Given the description of an element on the screen output the (x, y) to click on. 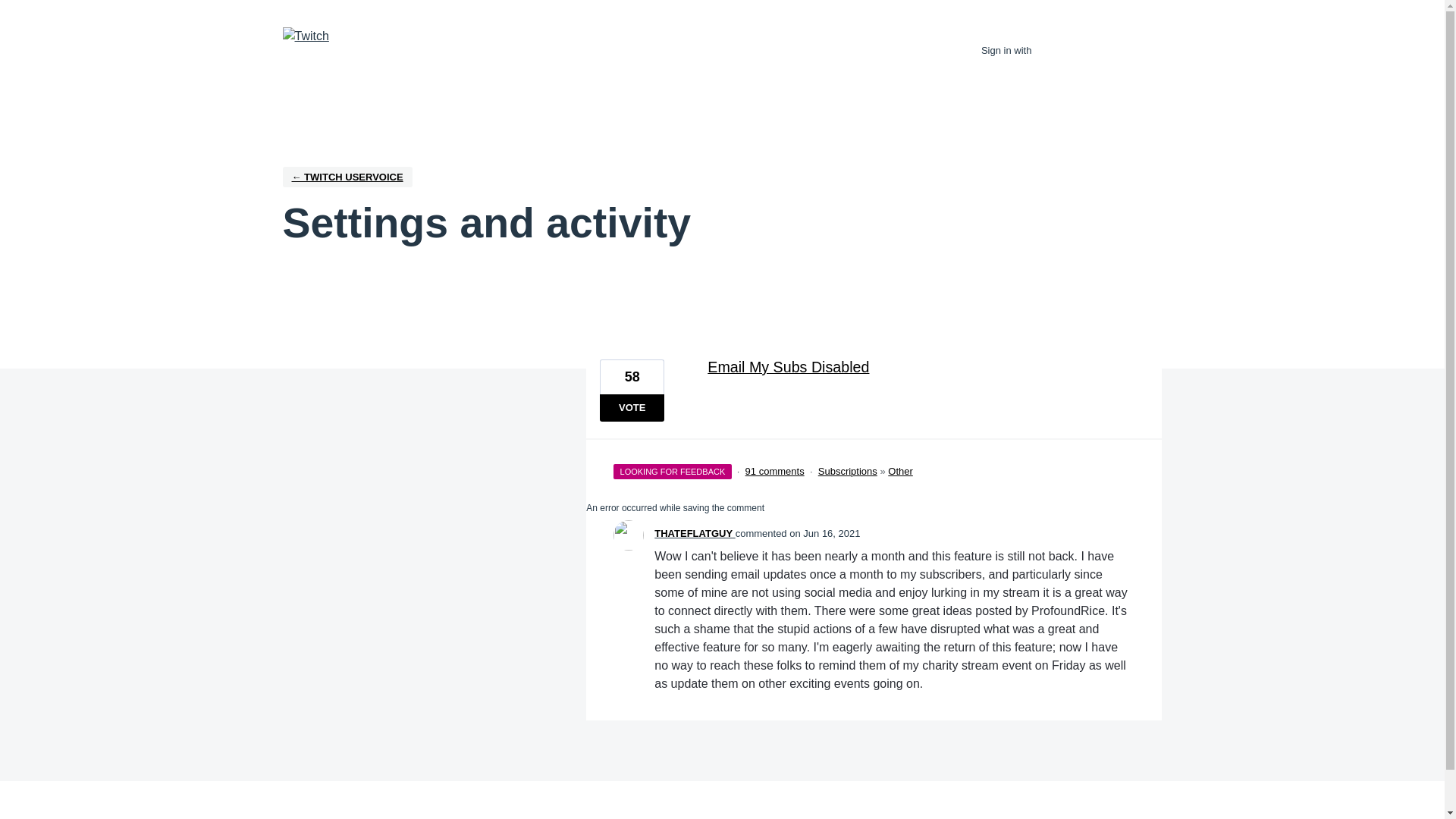
91 comments (775, 471)
Other (900, 471)
Comments for Email My Subs Disabled (775, 471)
Twitch UserVoice (305, 36)
LOOKING FOR FEEDBACK (671, 469)
Subscriptions (847, 471)
Skip to content (12, 12)
Twitch UserVoice (347, 177)
THATEFLATGUY (694, 532)
VOTE (631, 407)
Email My Subs Disabled (920, 366)
